Given the description of an element on the screen output the (x, y) to click on. 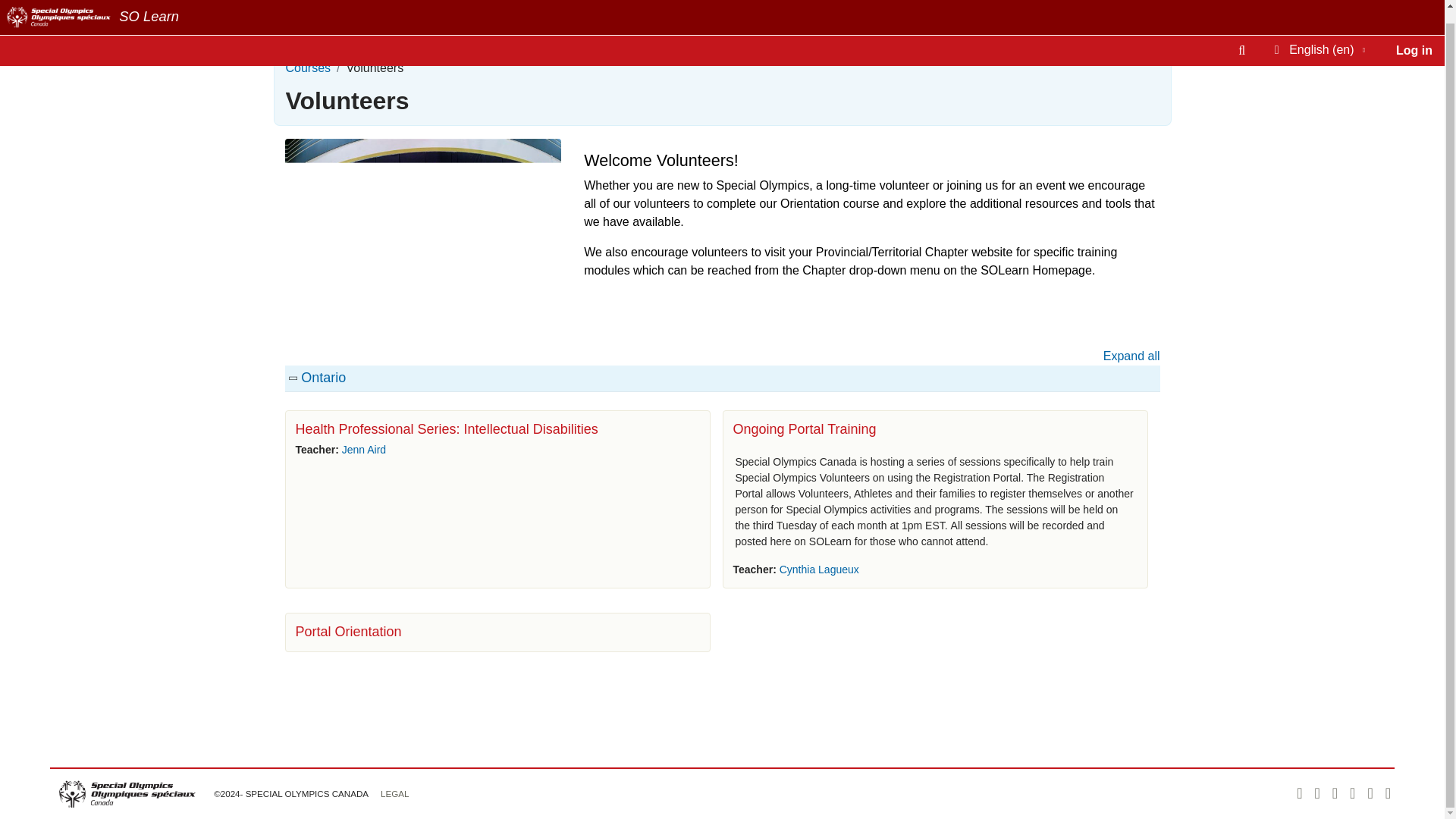
Log in (1414, 37)
